Given the description of an element on the screen output the (x, y) to click on. 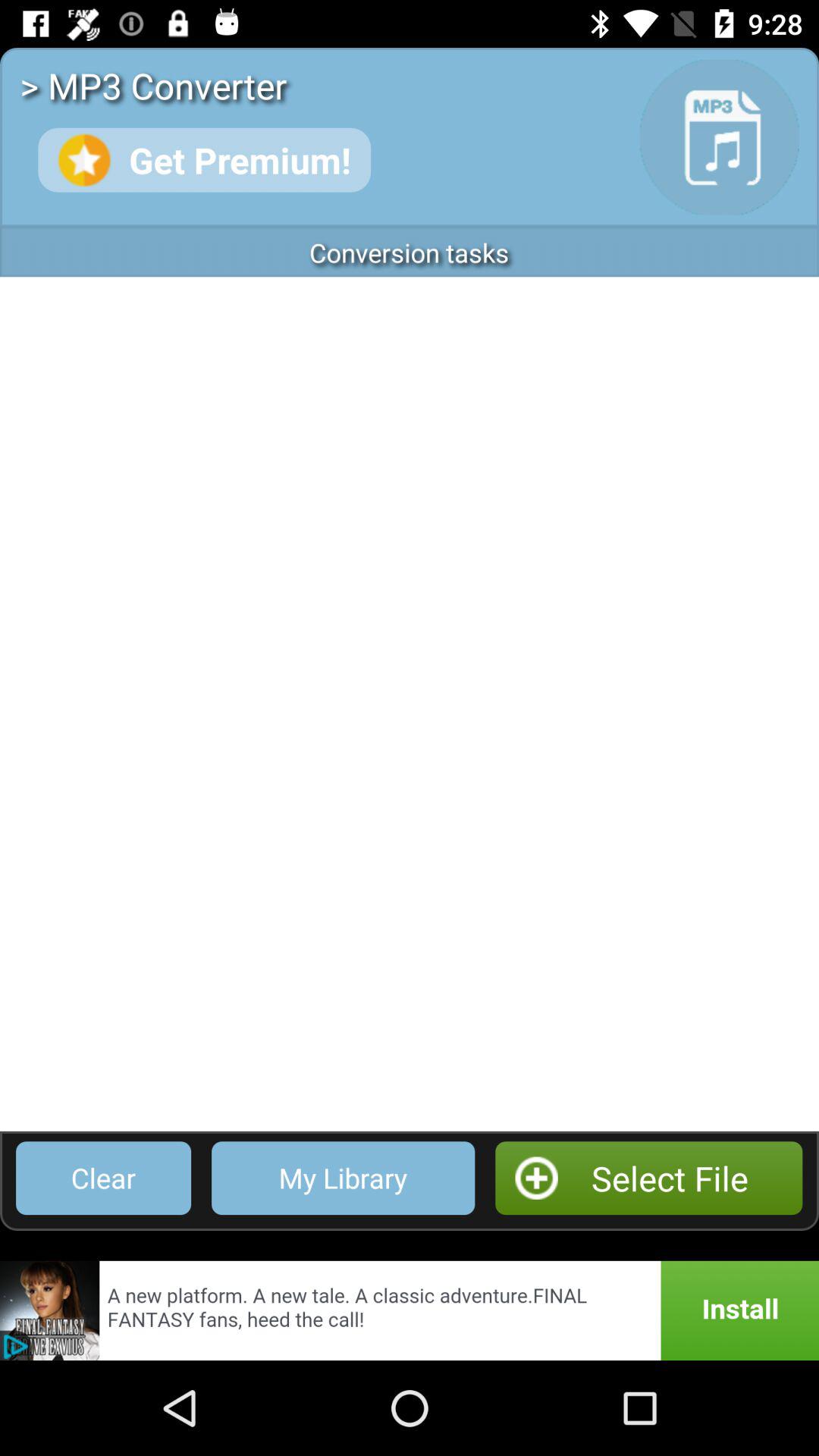
click icon above the conversion tasks item (204, 159)
